Given the description of an element on the screen output the (x, y) to click on. 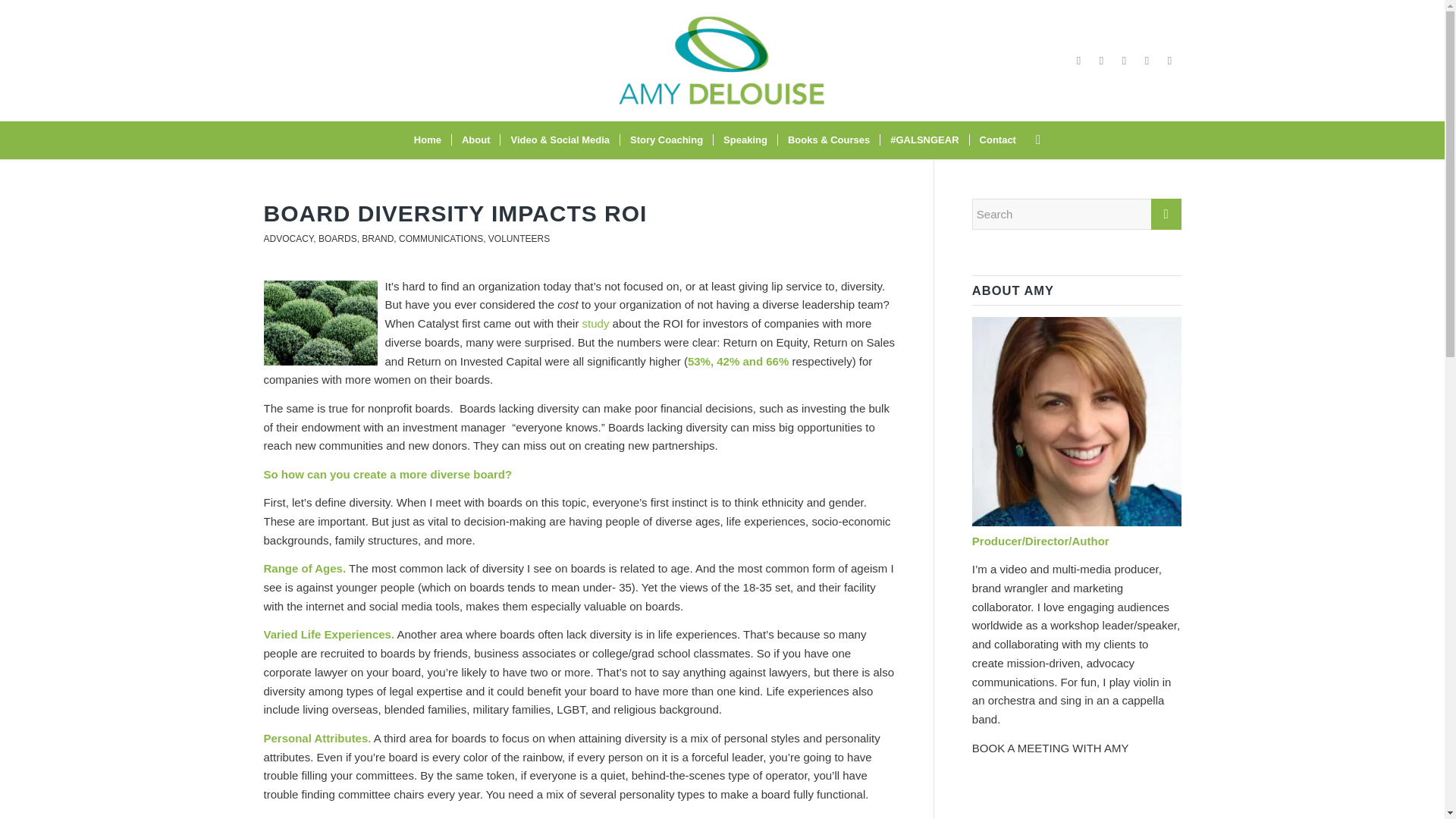
About (475, 139)
Click to start search (1165, 214)
Story Coaching (666, 139)
BRAND (377, 238)
study (596, 323)
Vimeo (1124, 60)
Instagram (1101, 60)
COMMUNICATIONS (440, 238)
Speaking (745, 139)
Home (427, 139)
